Given the description of an element on the screen output the (x, y) to click on. 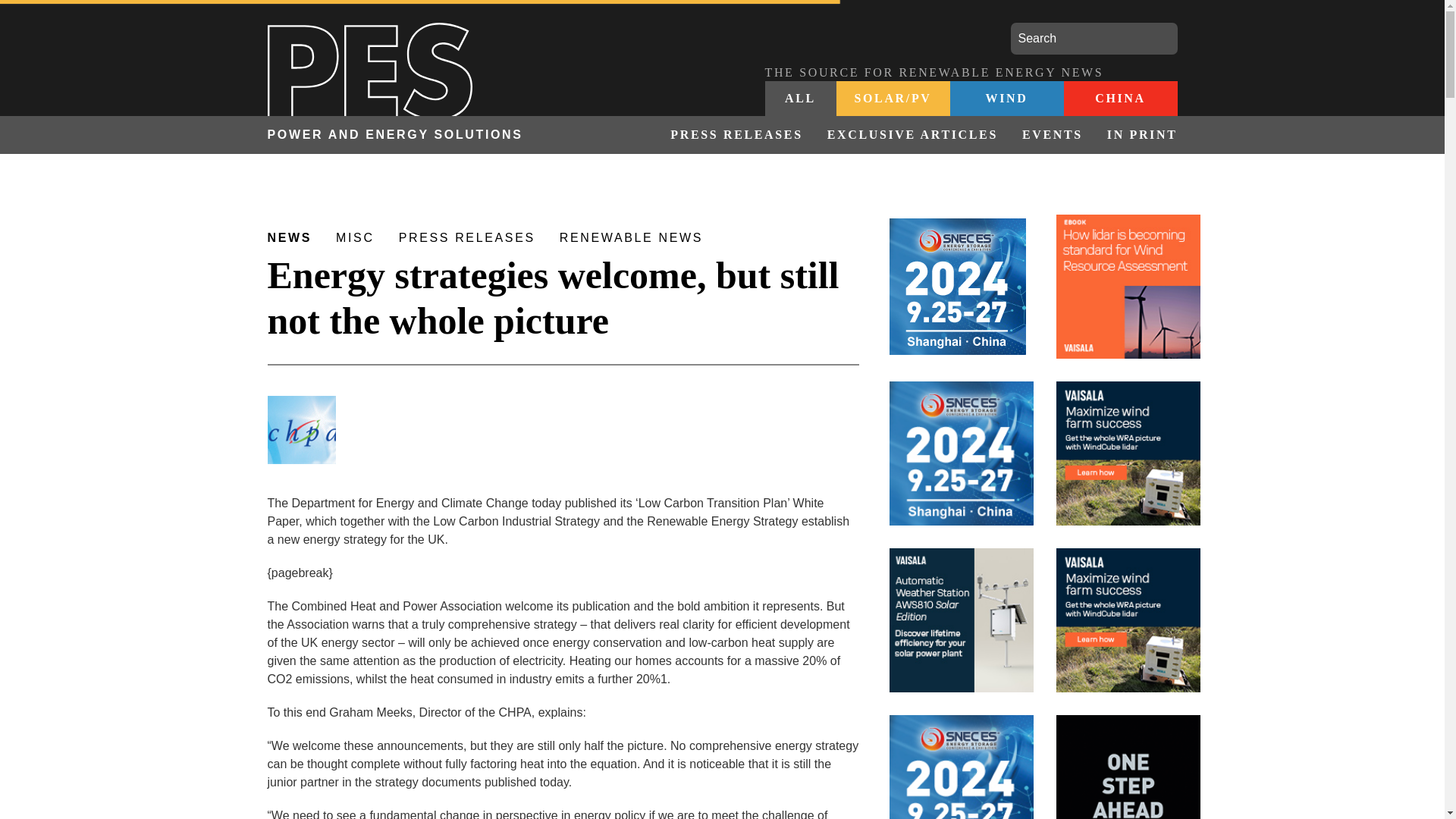
EVENTS (1052, 134)
ALL (799, 98)
CHINA (1119, 98)
Search for: (1093, 38)
WIND (1005, 98)
EXCLUSIVE ARTICLES (912, 134)
IN PRINT (1135, 134)
PRESS RELEASES (735, 134)
